Given the description of an element on the screen output the (x, y) to click on. 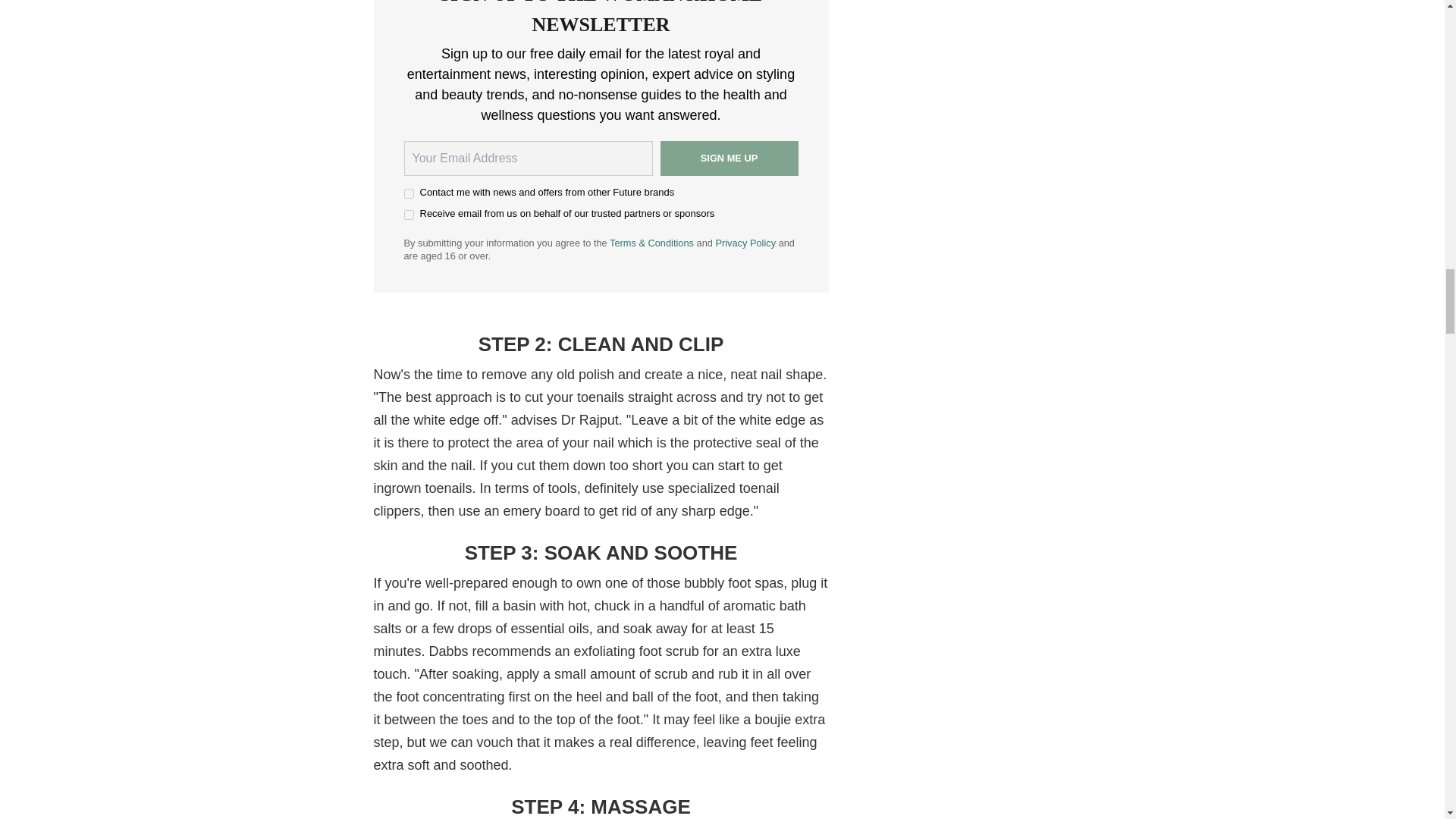
Sign me up (728, 158)
on (408, 214)
on (408, 194)
